Given the description of an element on the screen output the (x, y) to click on. 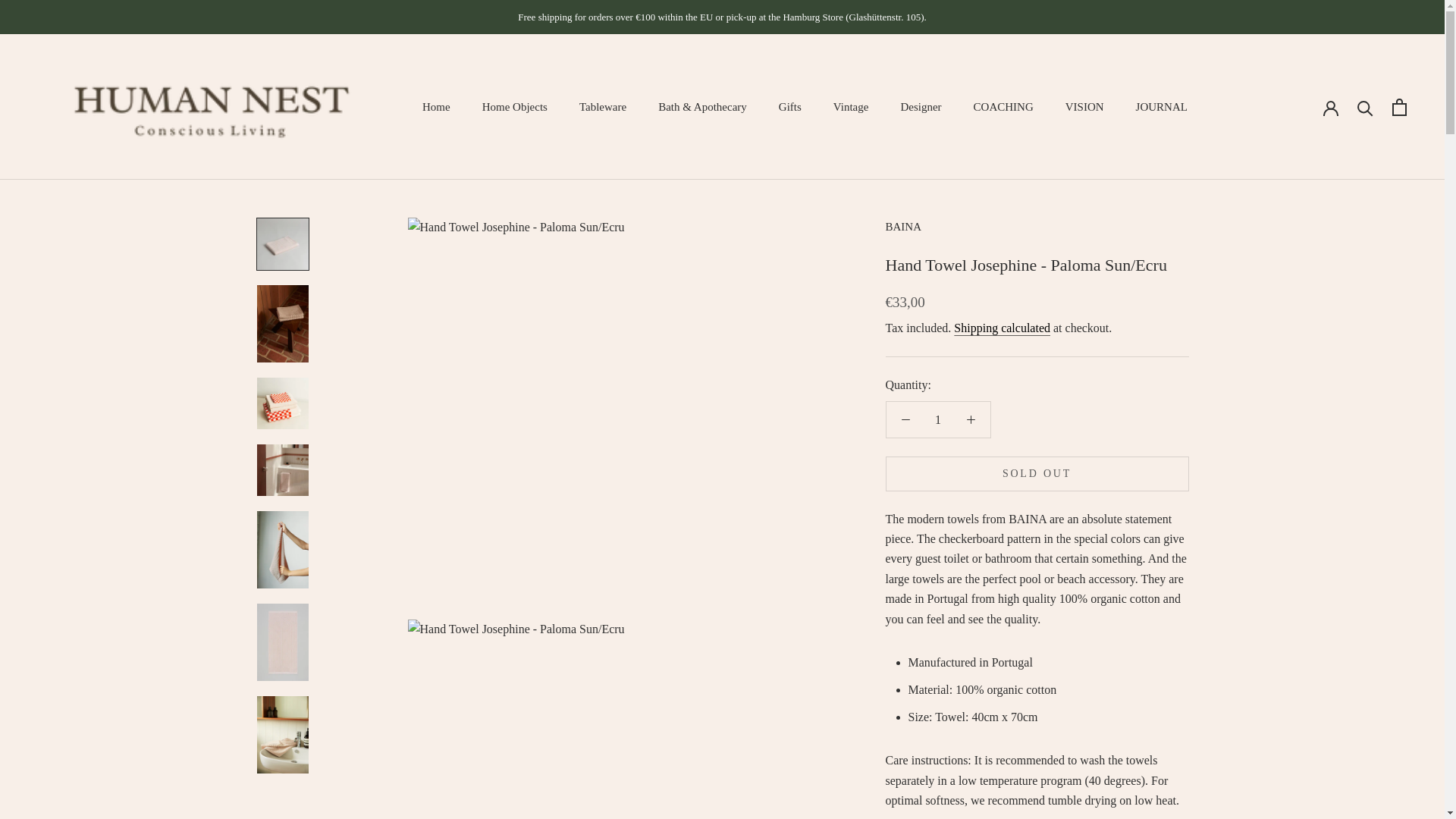
1 (938, 418)
